Given the description of an element on the screen output the (x, y) to click on. 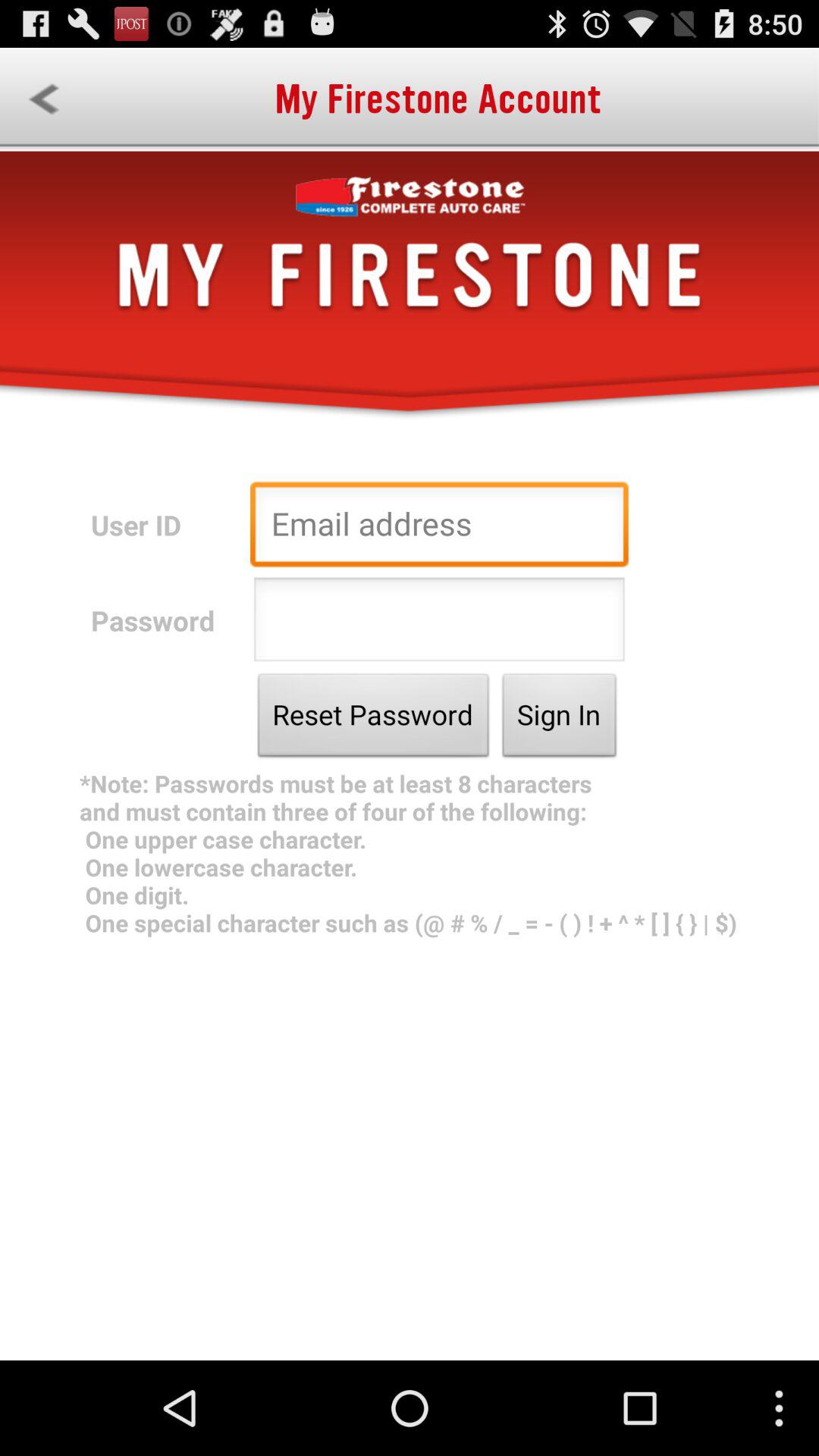
enter password (439, 623)
